Given the description of an element on the screen output the (x, y) to click on. 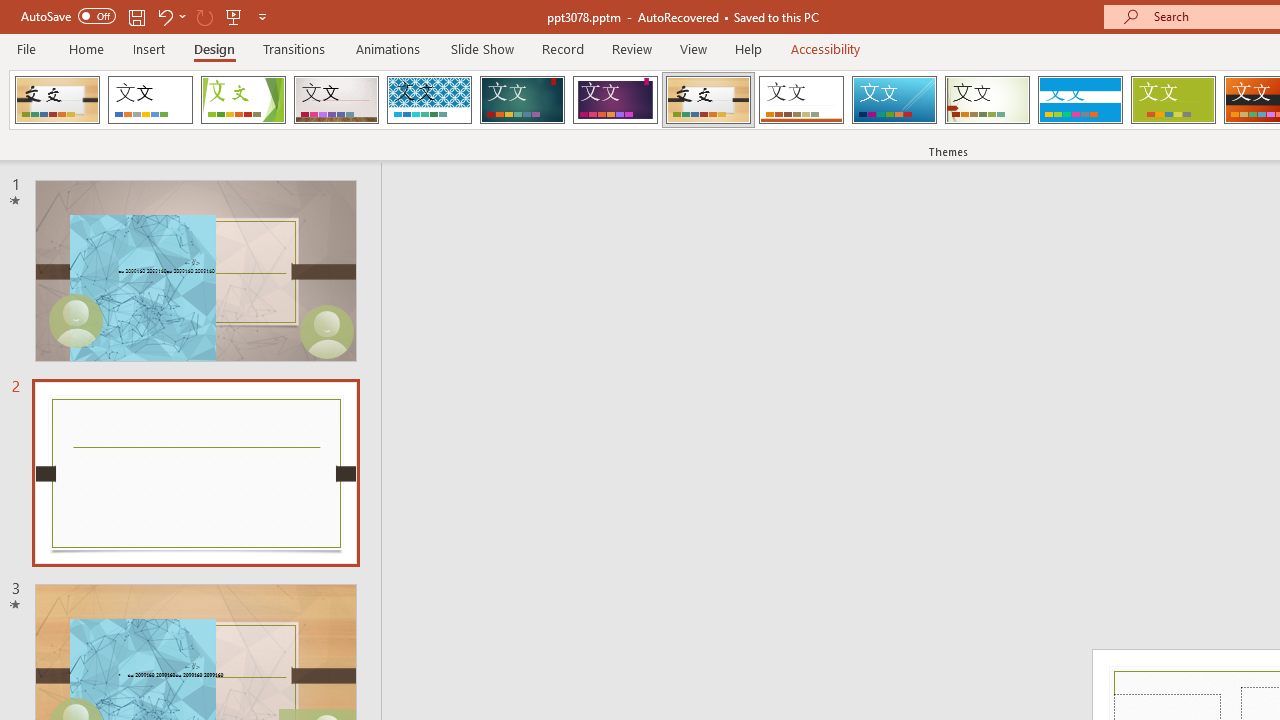
Ion (522, 100)
Office Theme (150, 100)
Ion Boardroom (615, 100)
